Given the description of an element on the screen output the (x, y) to click on. 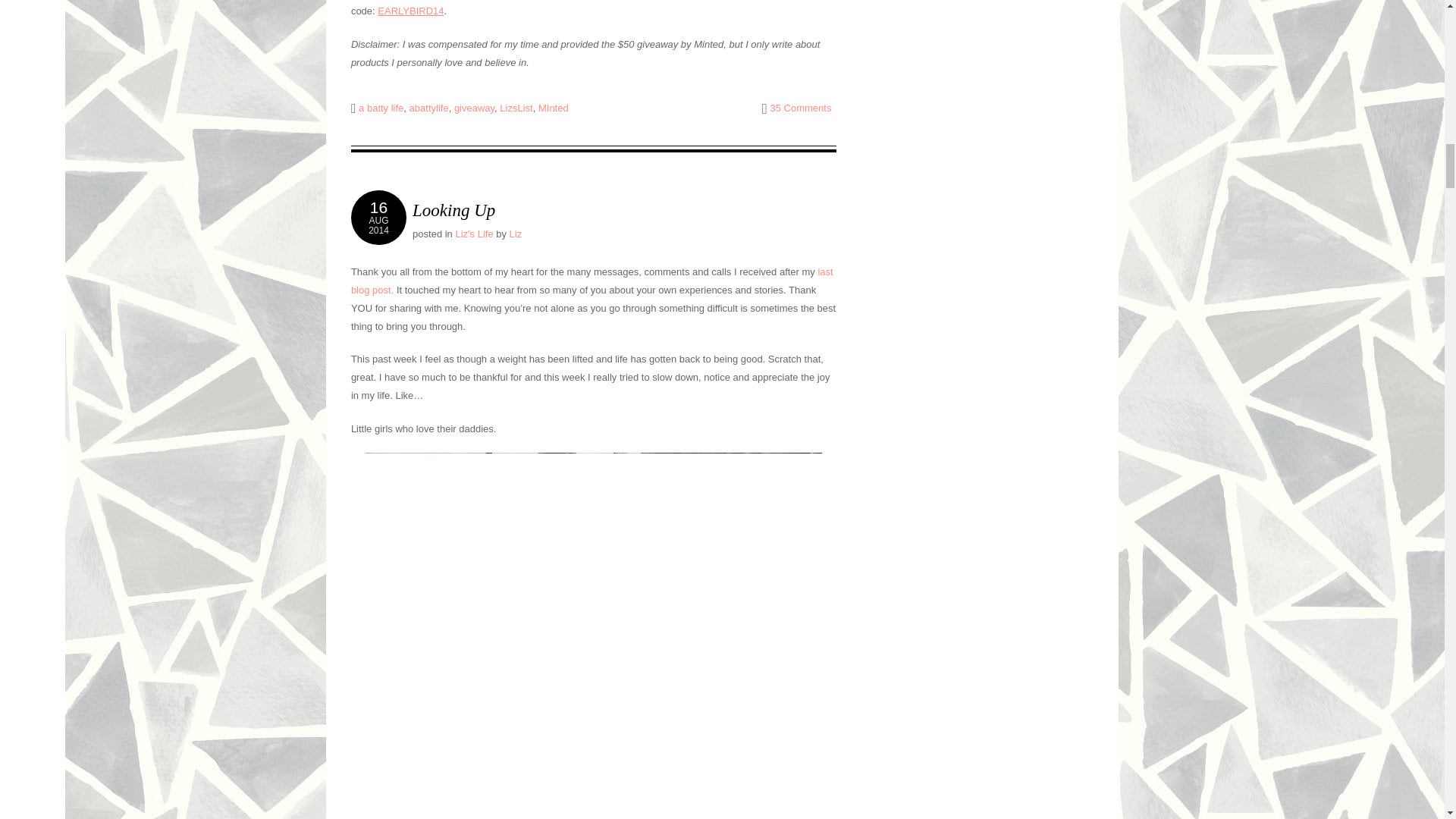
2:50 am (377, 217)
Liz's Life (473, 233)
Liz (515, 233)
abattylife (428, 107)
LizsList (377, 217)
Minted promotions (515, 107)
MInted (410, 10)
giveaway (553, 107)
35 Comments (474, 107)
Permalink to Looking Up (800, 107)
a batty life (453, 210)
Looking Up (380, 107)
View all posts by Liz (453, 210)
EARLYBIRD14 (515, 233)
